Given the description of an element on the screen output the (x, y) to click on. 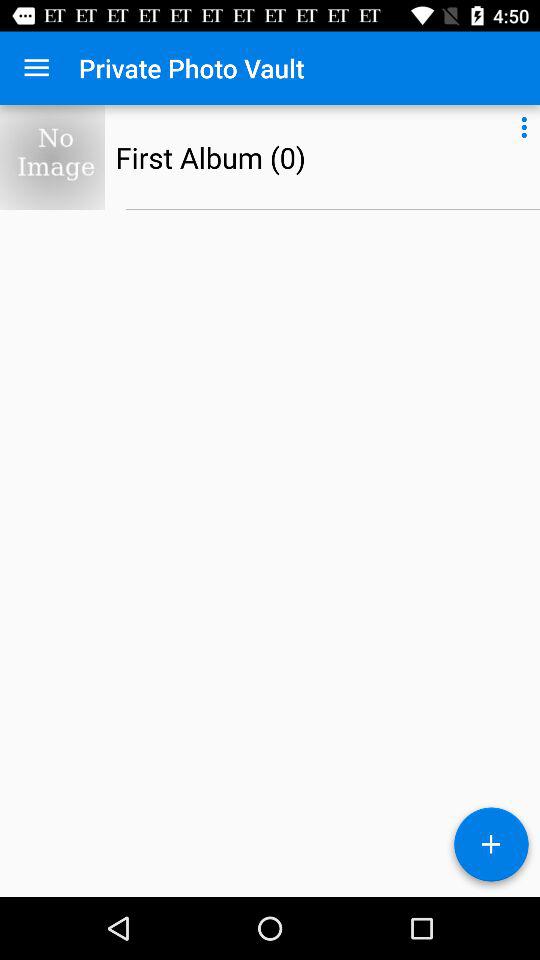
press item at the bottom right corner (491, 847)
